Given the description of an element on the screen output the (x, y) to click on. 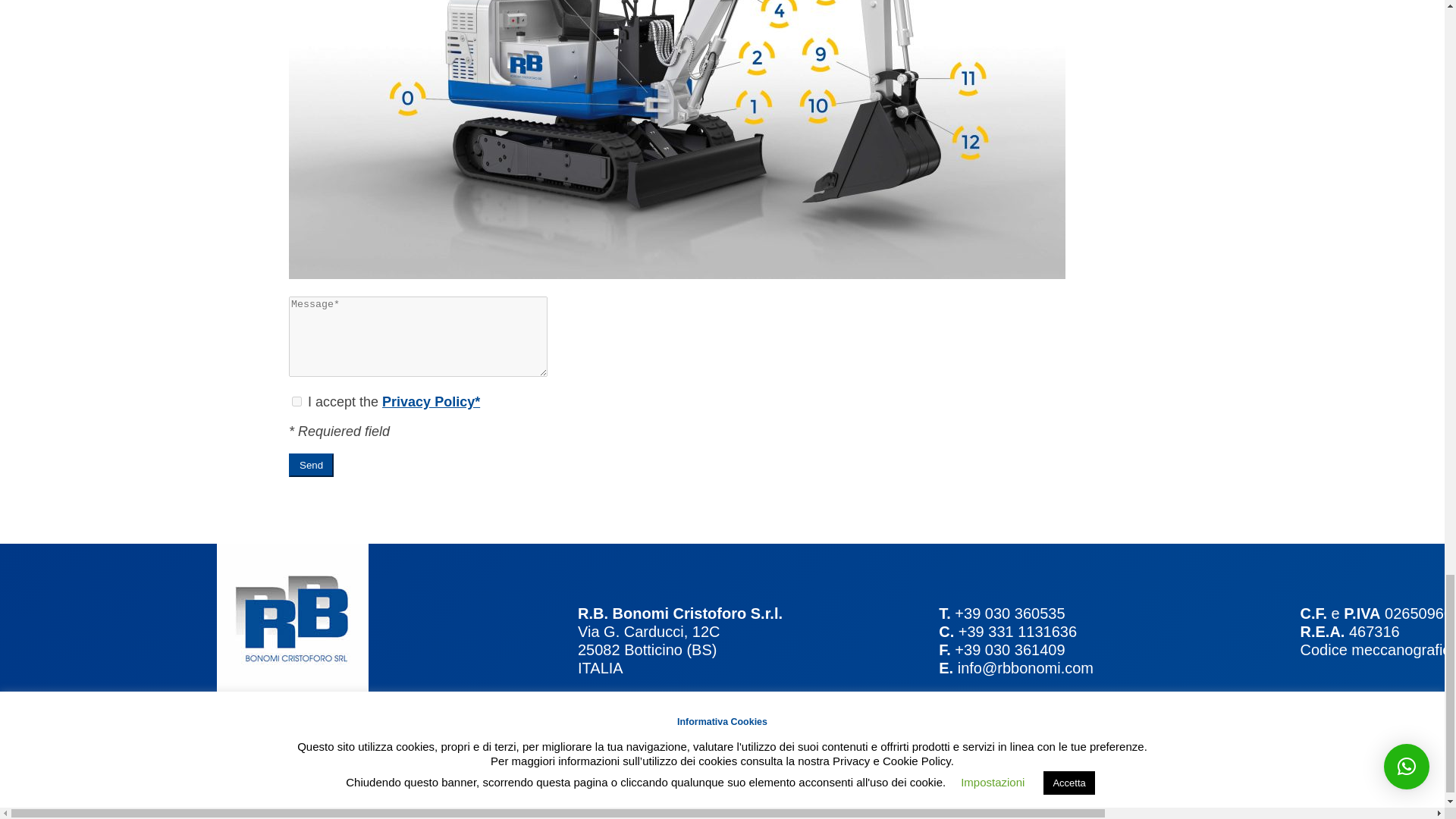
Consulente SEO e web marketing a Bergamo (938, 765)
Privacy Policy (430, 401)
1 (296, 401)
